Given the description of an element on the screen output the (x, y) to click on. 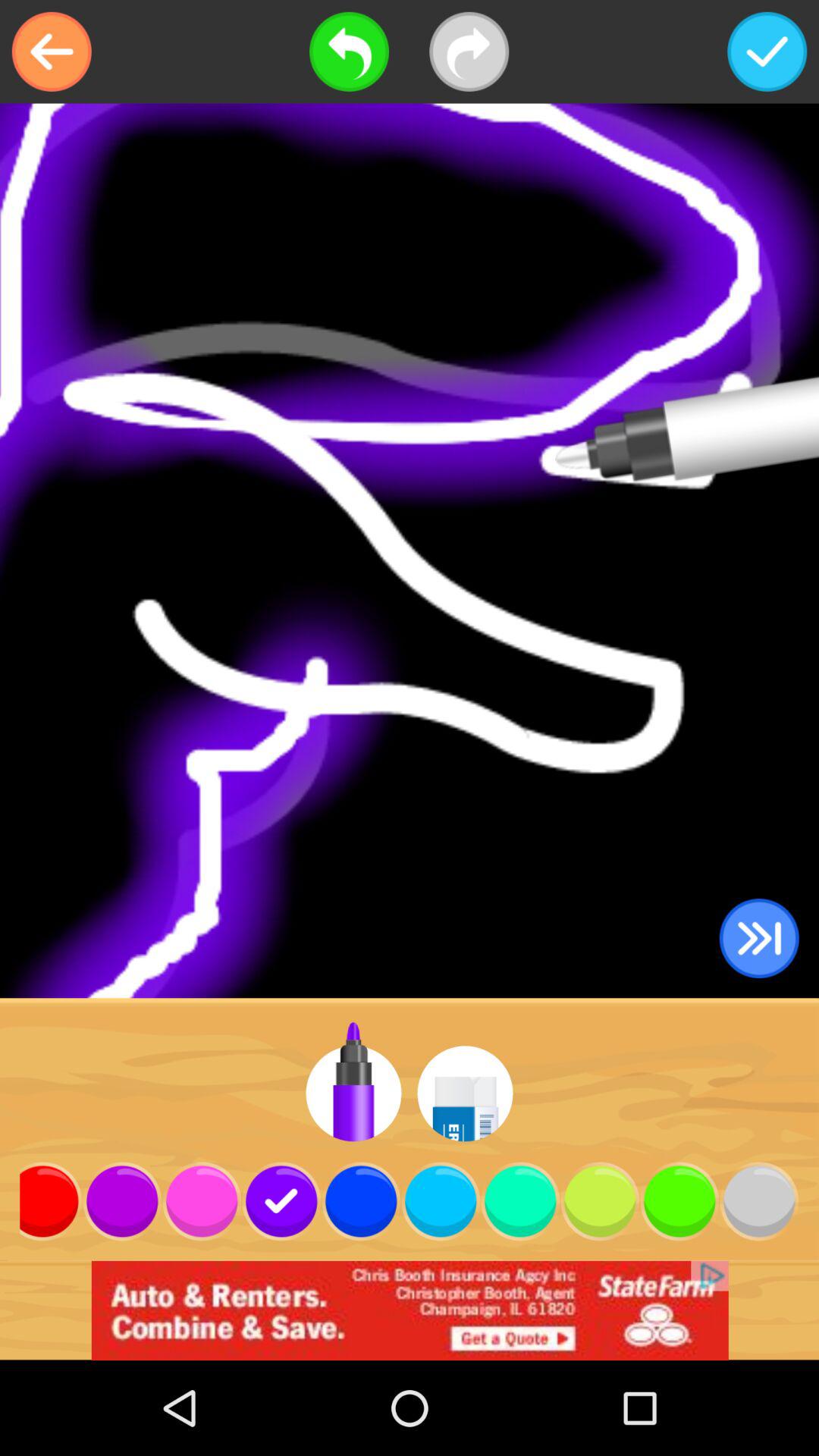
undo (349, 51)
